Given the description of an element on the screen output the (x, y) to click on. 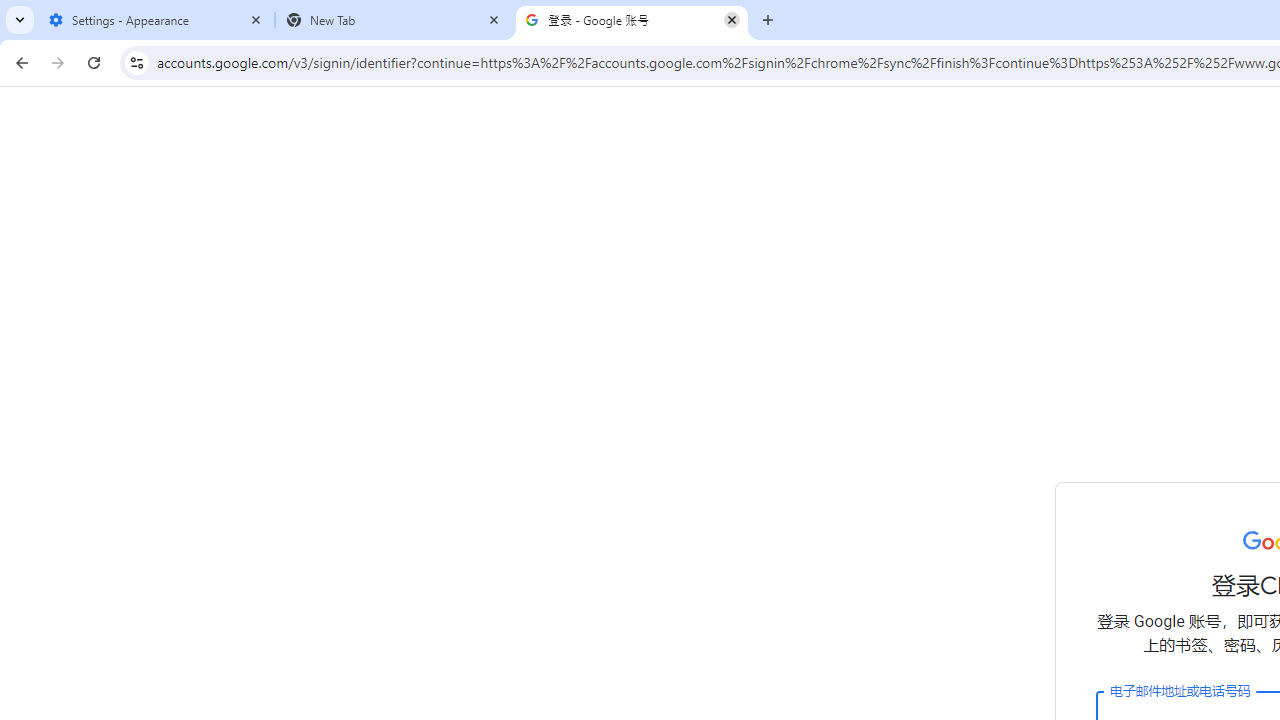
Settings - Appearance (156, 20)
New Tab (394, 20)
